Given the description of an element on the screen output the (x, y) to click on. 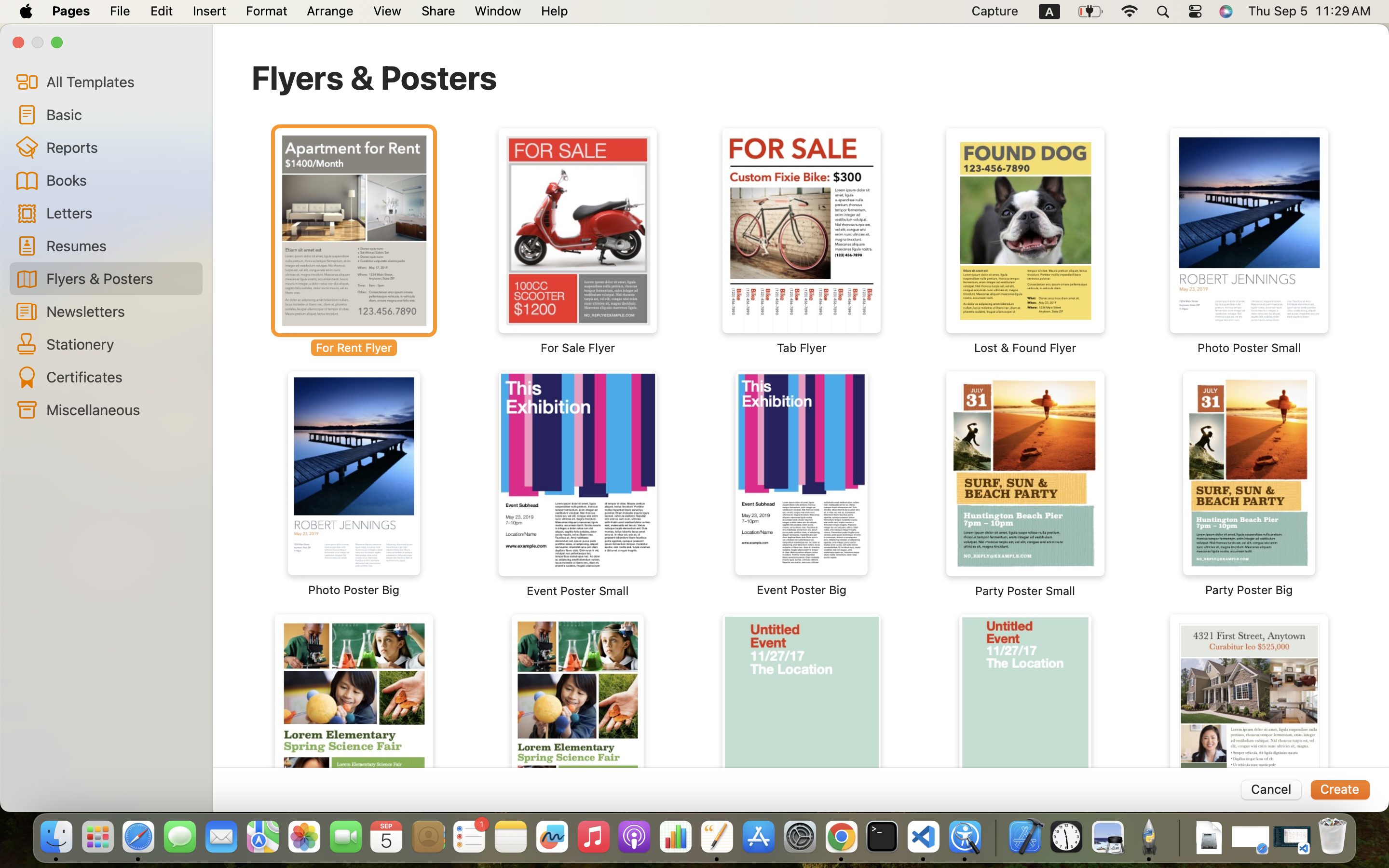
Miscellaneous Element type: AXStaticText (120, 409)
‎⁨Photo Poster Small⁩ Element type: AXButton (1249, 241)
‎⁨Photo Poster Big⁩ Element type: AXButton (353, 483)
‎⁨Tab Flyer⁩ Element type: AXButton (801, 241)
Reports Element type: AXStaticText (120, 146)
